Given the description of an element on the screen output the (x, y) to click on. 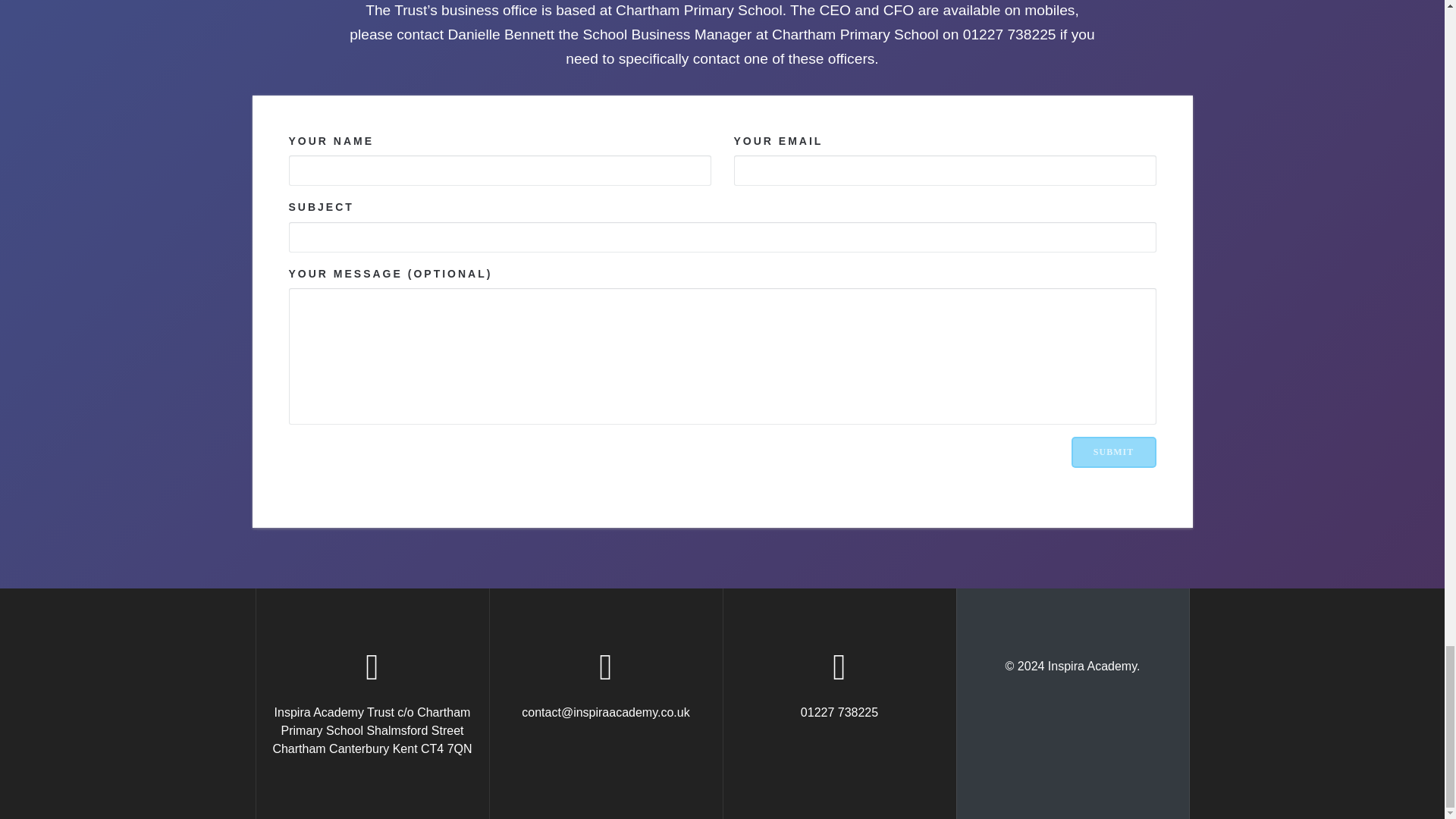
Submit (1113, 451)
Submit (1113, 451)
